Given the description of an element on the screen output the (x, y) to click on. 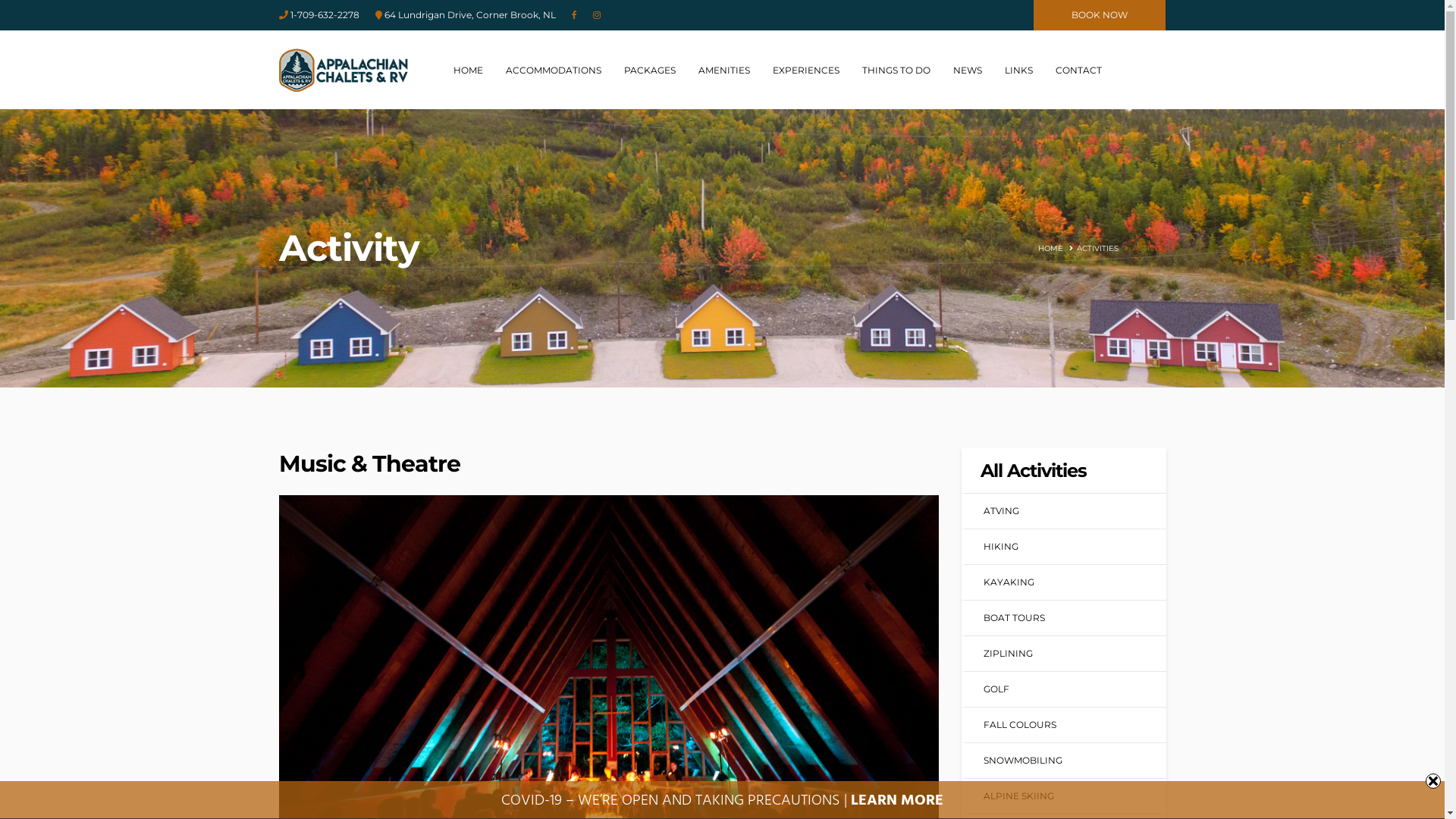
ATVING Element type: text (1000, 510)
ACCOMMODATIONS Element type: text (552, 70)
HIKING Element type: text (999, 546)
ACTIVITIES Element type: text (1090, 248)
KAYAKING Element type: text (1007, 581)
THINGS TO DO Element type: text (895, 70)
AMENITIES Element type: text (723, 70)
ZIPLINING Element type: text (1007, 652)
SNOWMOBILING Element type: text (1021, 759)
FALL COLOURS Element type: text (1018, 724)
CONTACT Element type: text (1078, 70)
GOLF Element type: text (995, 688)
BOAT TOURS Element type: text (1013, 617)
ALPINE SKIING Element type: text (1017, 795)
LEARN MORE Element type: text (896, 800)
EXPERIENCES Element type: text (804, 70)
NEWS Element type: text (966, 70)
HOME Element type: text (468, 70)
BOOK NOW Element type: text (1099, 15)
LINKS Element type: text (1018, 70)
HOME Element type: text (1049, 248)
PACKAGES Element type: text (648, 70)
